Given the description of an element on the screen output the (x, y) to click on. 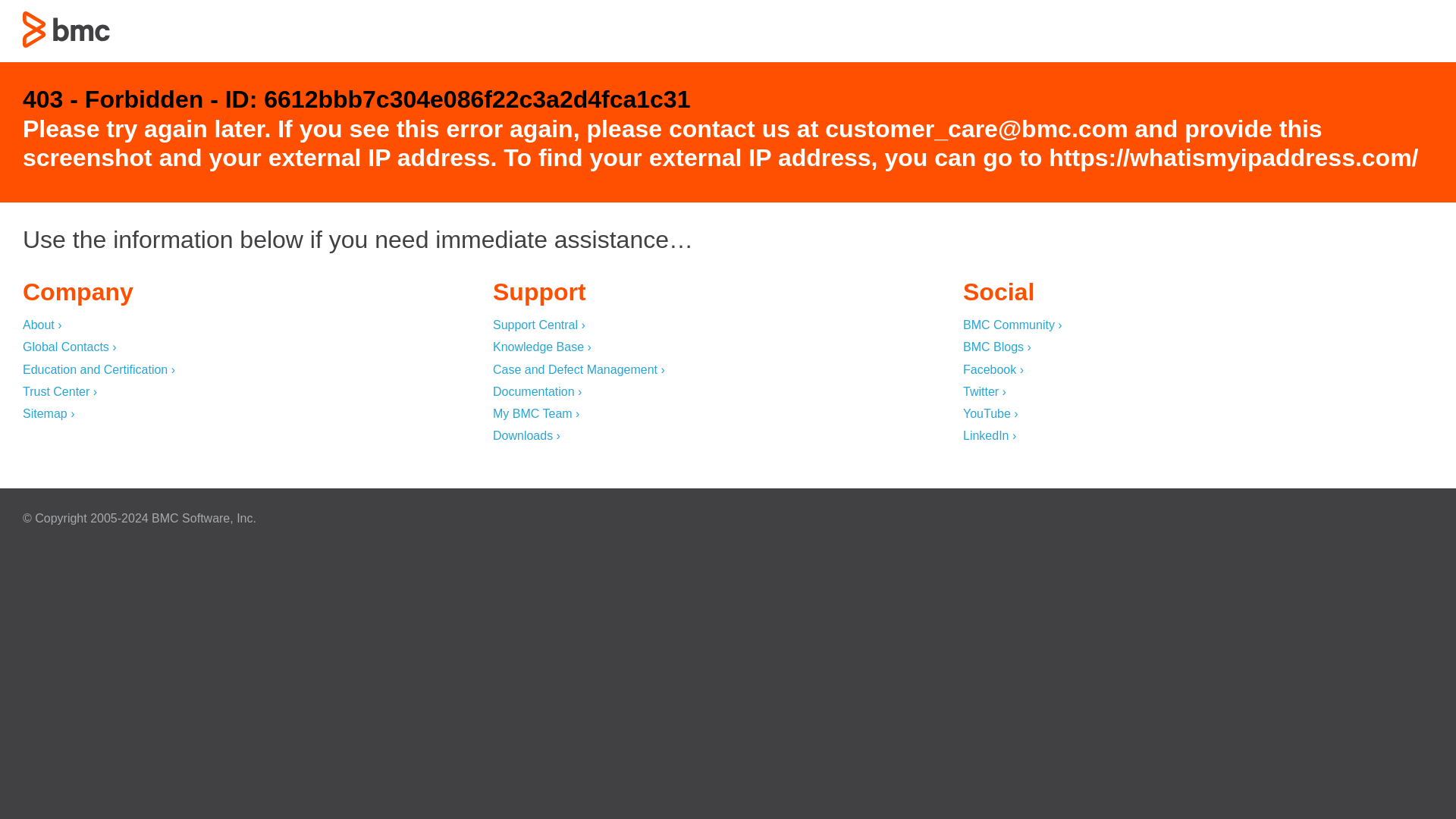
403 - Forbidden (66, 29)
